Given the description of an element on the screen output the (x, y) to click on. 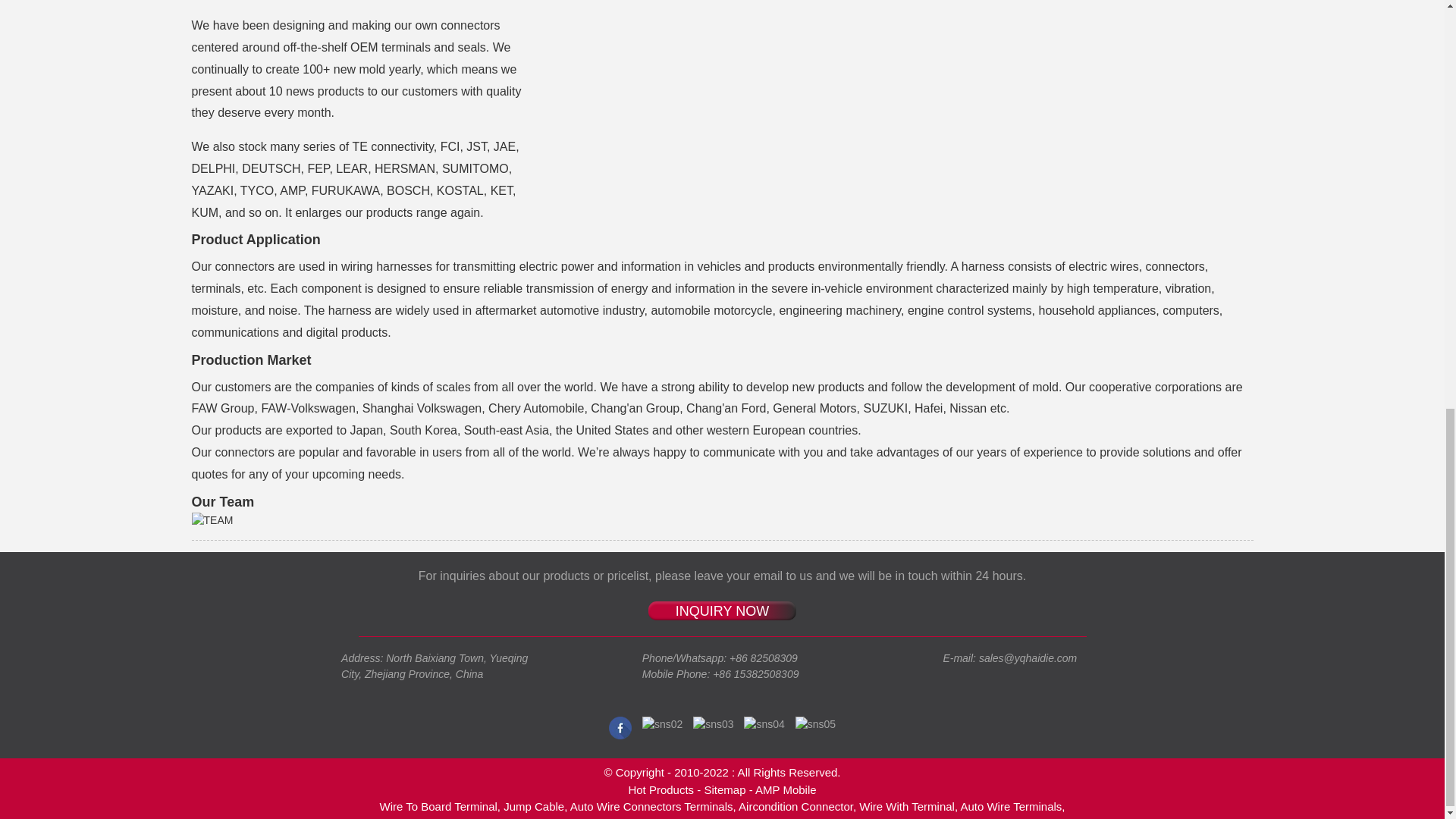
Auto Wire Connectors Terminals (651, 806)
Wire To Board Terminal (437, 806)
Auto Wire Terminals (1010, 806)
Wire With Terminal (907, 806)
Aircondition Connector (795, 806)
Jump Cable (533, 806)
